Given the description of an element on the screen output the (x, y) to click on. 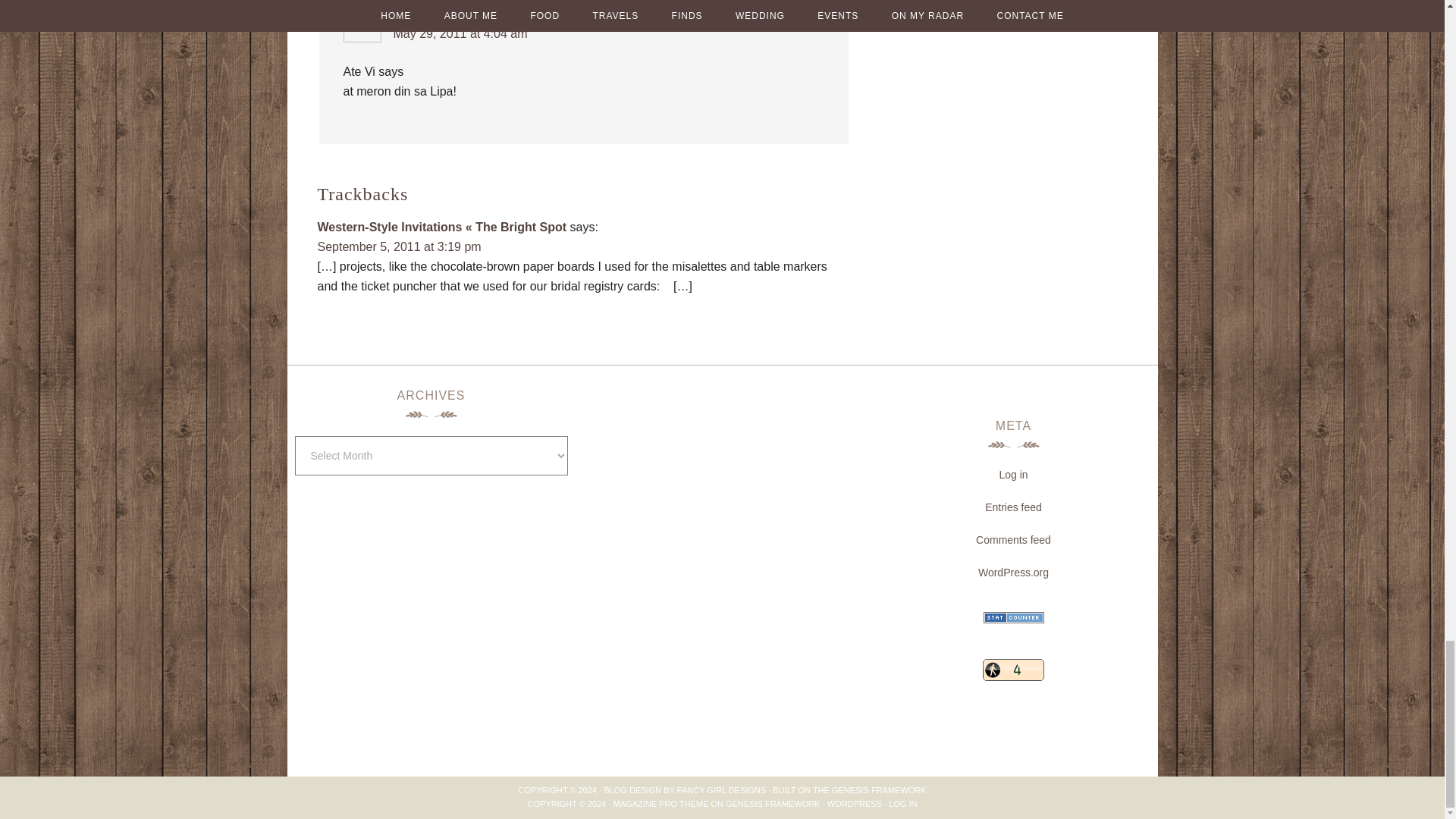
May 29, 2011 at 4:04 am (460, 33)
September 5, 2011 at 3:19 pm (398, 246)
Genesis Framework (878, 789)
Click to see what's popular on this site! (1012, 669)
